Given the description of an element on the screen output the (x, y) to click on. 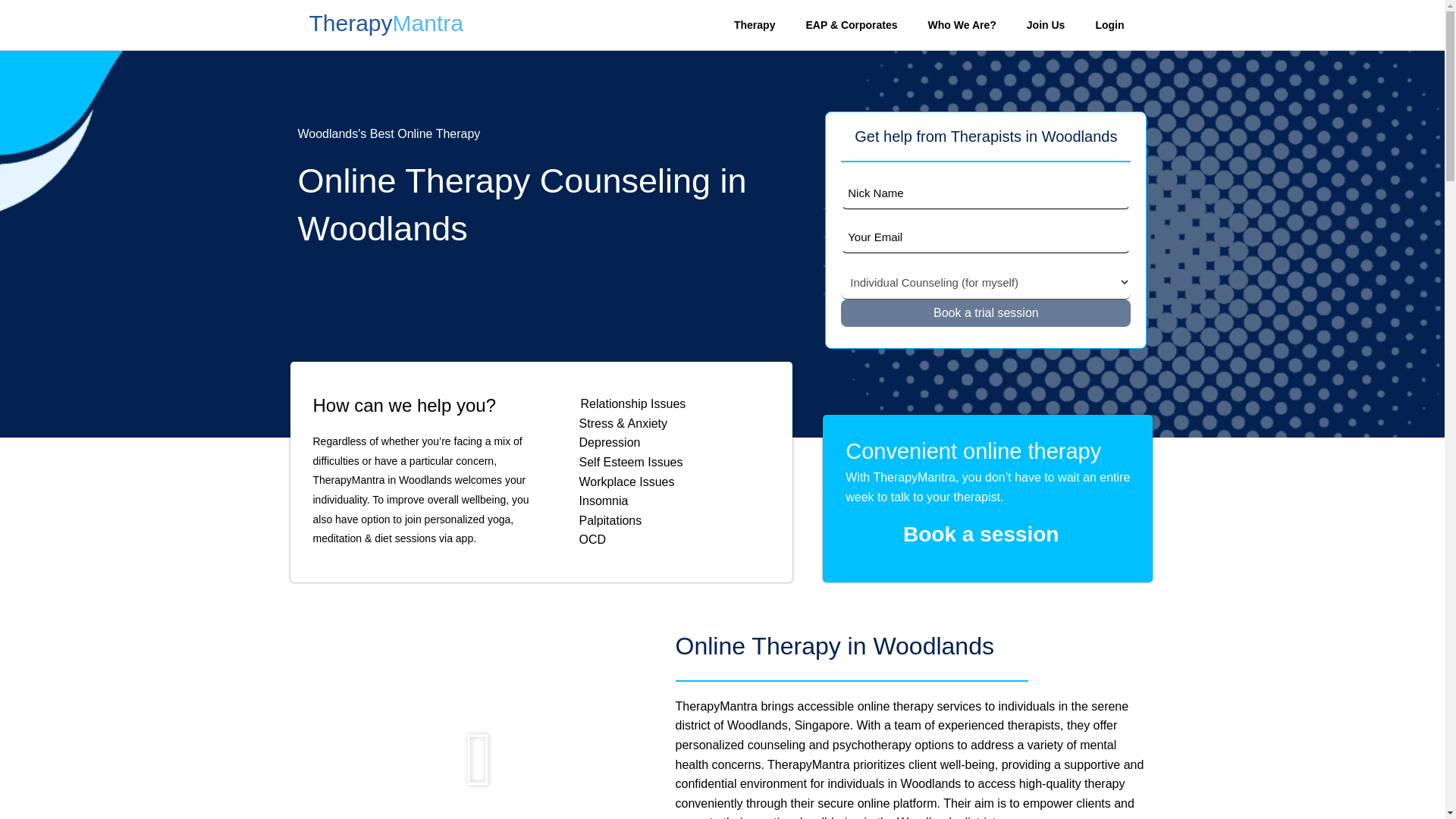
Therapy (754, 24)
Login (1109, 24)
Book a trial session (986, 312)
TherapyMantra (383, 26)
Join Us (1045, 24)
Who We Are? (961, 24)
